Given the description of an element on the screen output the (x, y) to click on. 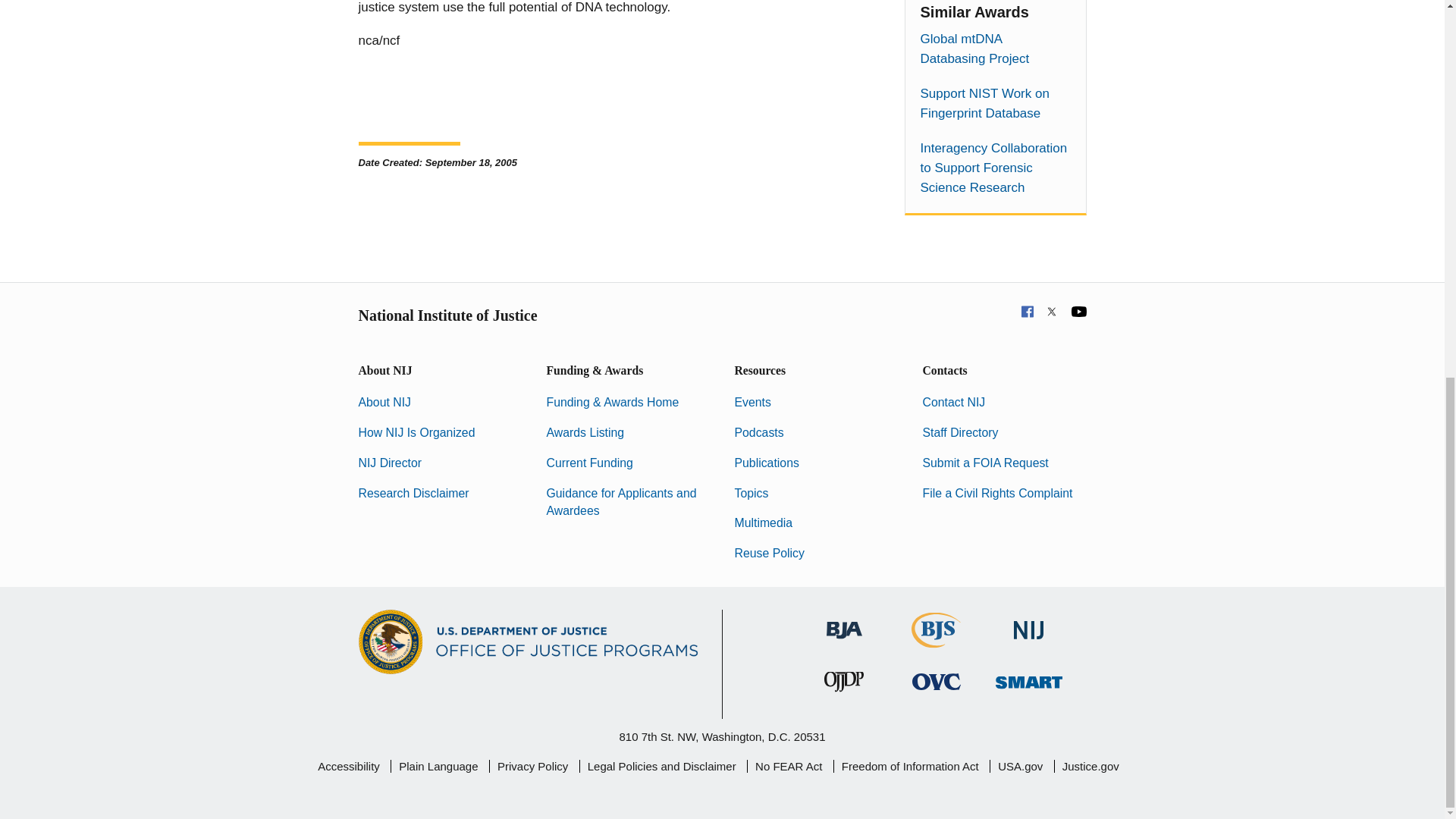
Global mtDNA Databasing Project (995, 48)
Global mtDNA Databasing Project (995, 48)
Support NIST Work on Fingerprint Database (995, 103)
Support NIST Work on Fingerprint Database (995, 103)
